Given the description of an element on the screen output the (x, y) to click on. 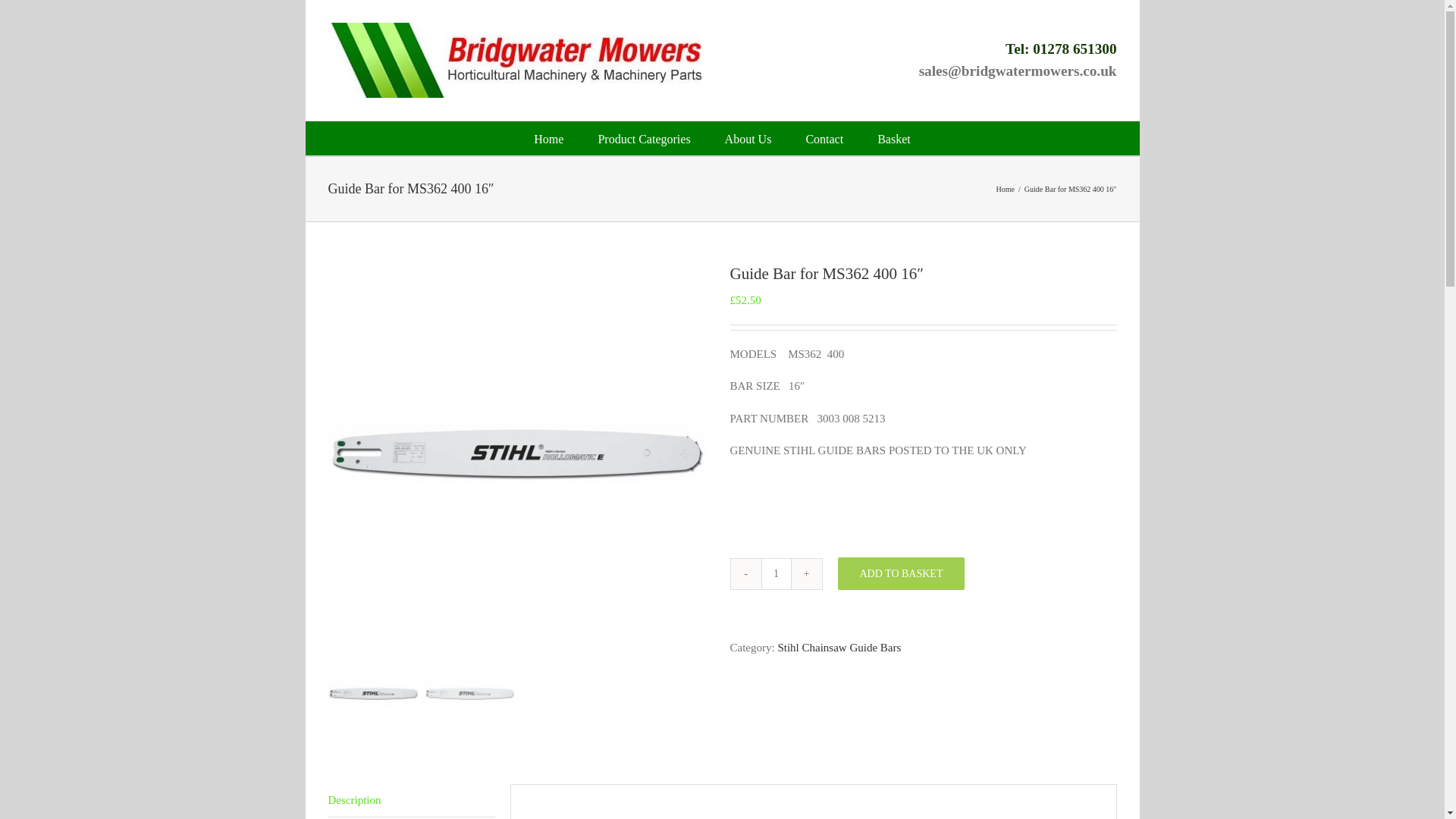
About Us (748, 138)
Product Categories (643, 138)
Basket (894, 138)
Qty (776, 573)
- (745, 573)
Contact (824, 138)
1 (776, 573)
